Given the description of an element on the screen output the (x, y) to click on. 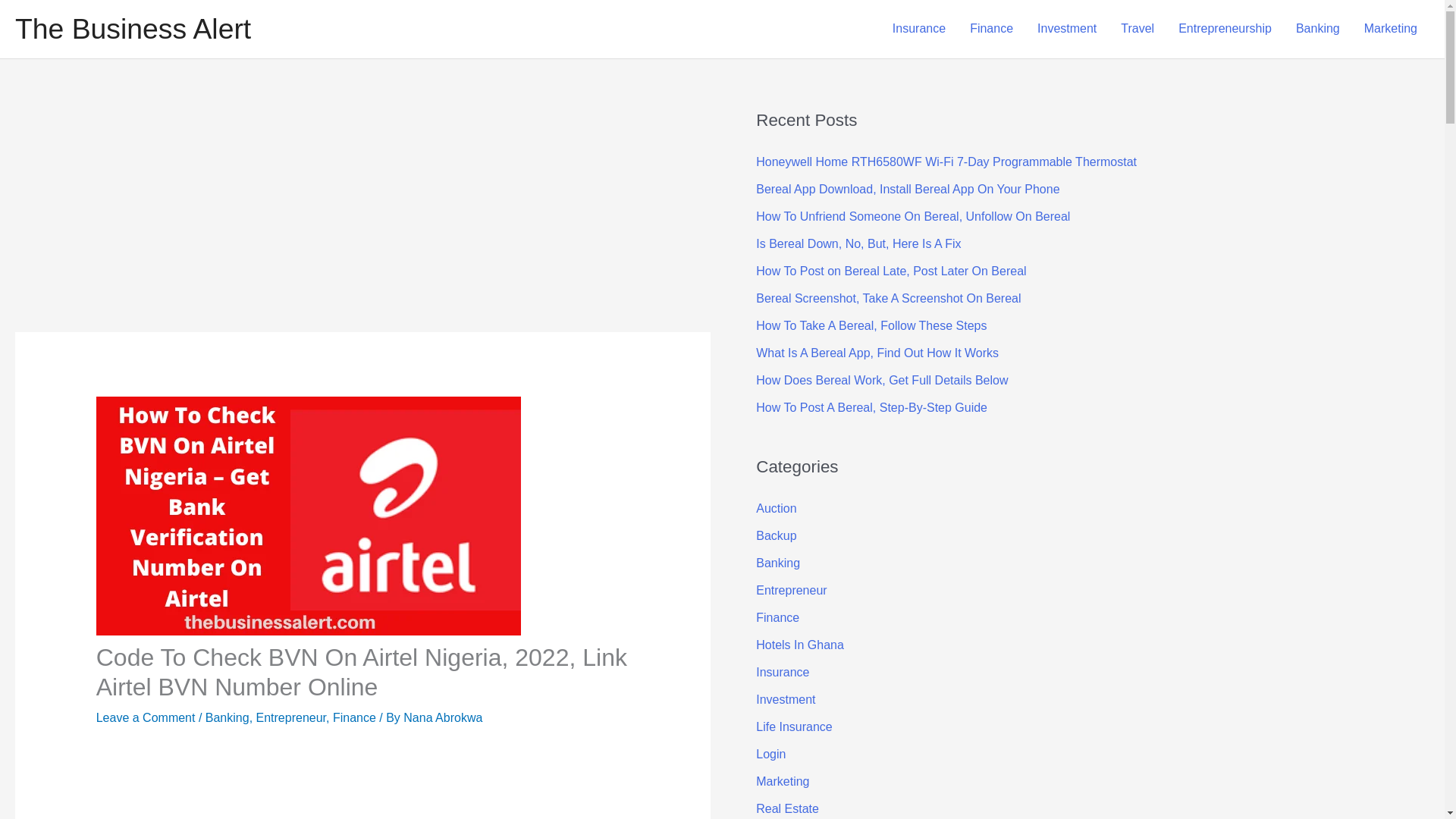
Investment (1066, 28)
Entrepreneurship (1225, 28)
Finance (354, 717)
Leave a Comment (145, 717)
Banking (1318, 28)
View all posts by Nana Abrokwa (442, 717)
Finance (991, 28)
Banking (226, 717)
Marketing (1390, 28)
The Business Alert (132, 29)
Advertisement (338, 785)
Travel (1137, 28)
Entrepreneur (291, 717)
Insurance (919, 28)
Nana Abrokwa (442, 717)
